Given the description of an element on the screen output the (x, y) to click on. 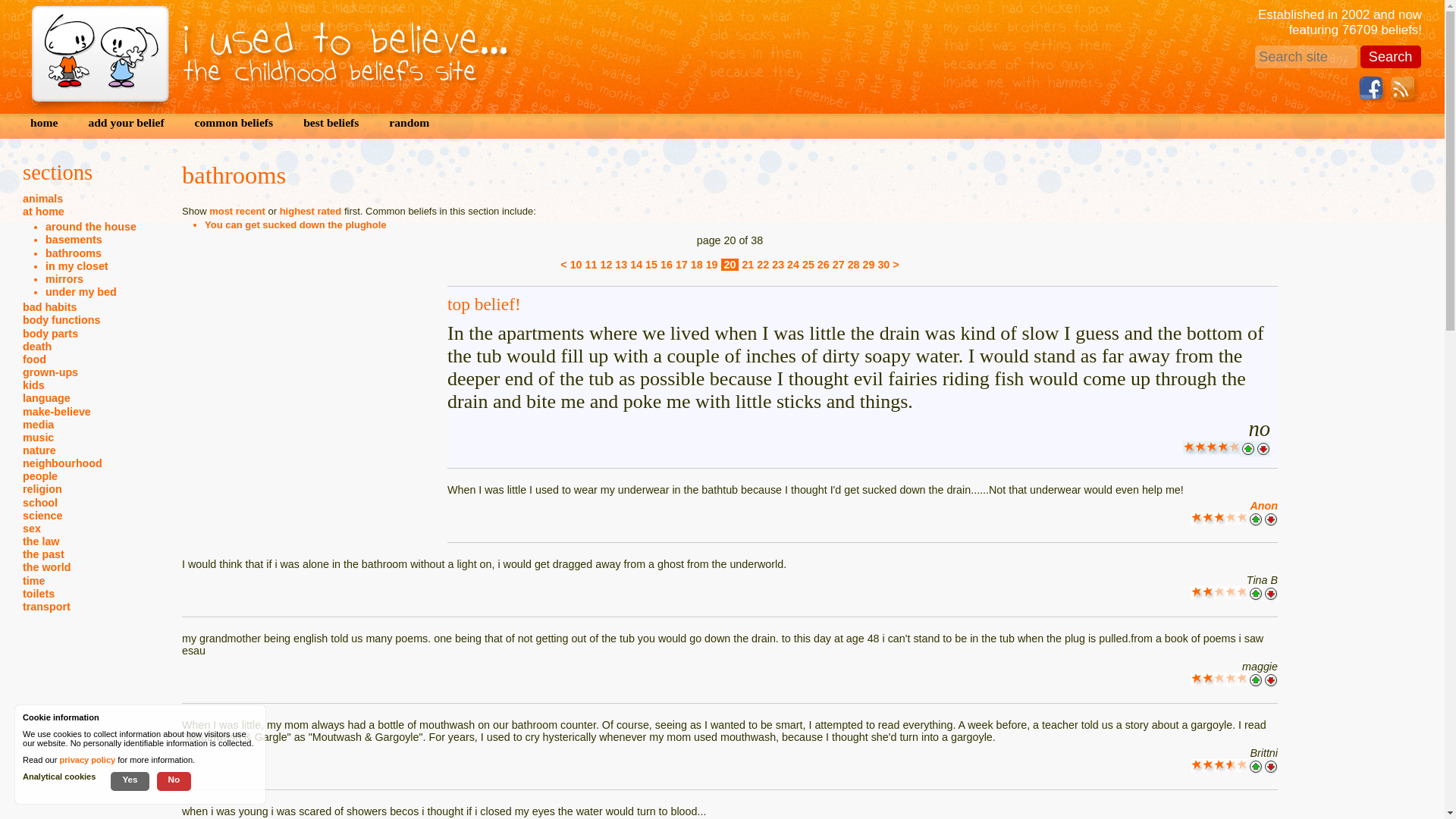
kids (34, 385)
go to page 24  (793, 264)
music (38, 437)
random (408, 122)
go to page 13  (620, 264)
best beliefs (330, 122)
go to page 19  (711, 264)
go to page 14  (636, 264)
time (34, 580)
home (44, 122)
Search (1390, 56)
go to page 27  (838, 264)
animals (42, 198)
go to page 23  (777, 264)
mirrors (63, 278)
